Given the description of an element on the screen output the (x, y) to click on. 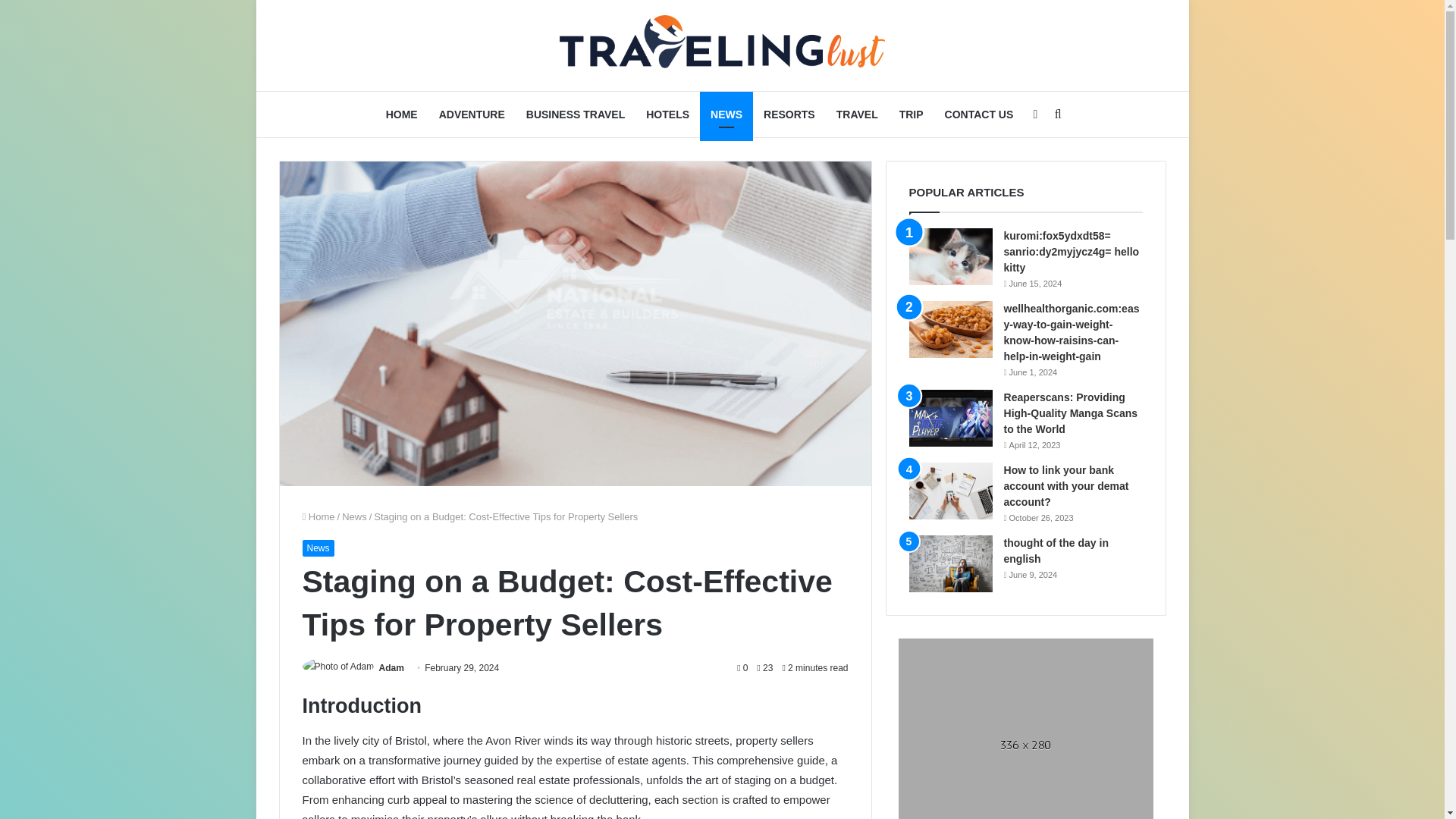
Adam (391, 667)
Adam (391, 667)
ADVENTURE (471, 114)
HOTELS (667, 114)
News (354, 516)
Traveling Lust (721, 45)
CONTACT US (979, 114)
News (317, 547)
RESORTS (788, 114)
TRAVEL (856, 114)
TRIP (911, 114)
BUSINESS TRAVEL (574, 114)
Home (317, 516)
HOME (401, 114)
NEWS (726, 114)
